Given the description of an element on the screen output the (x, y) to click on. 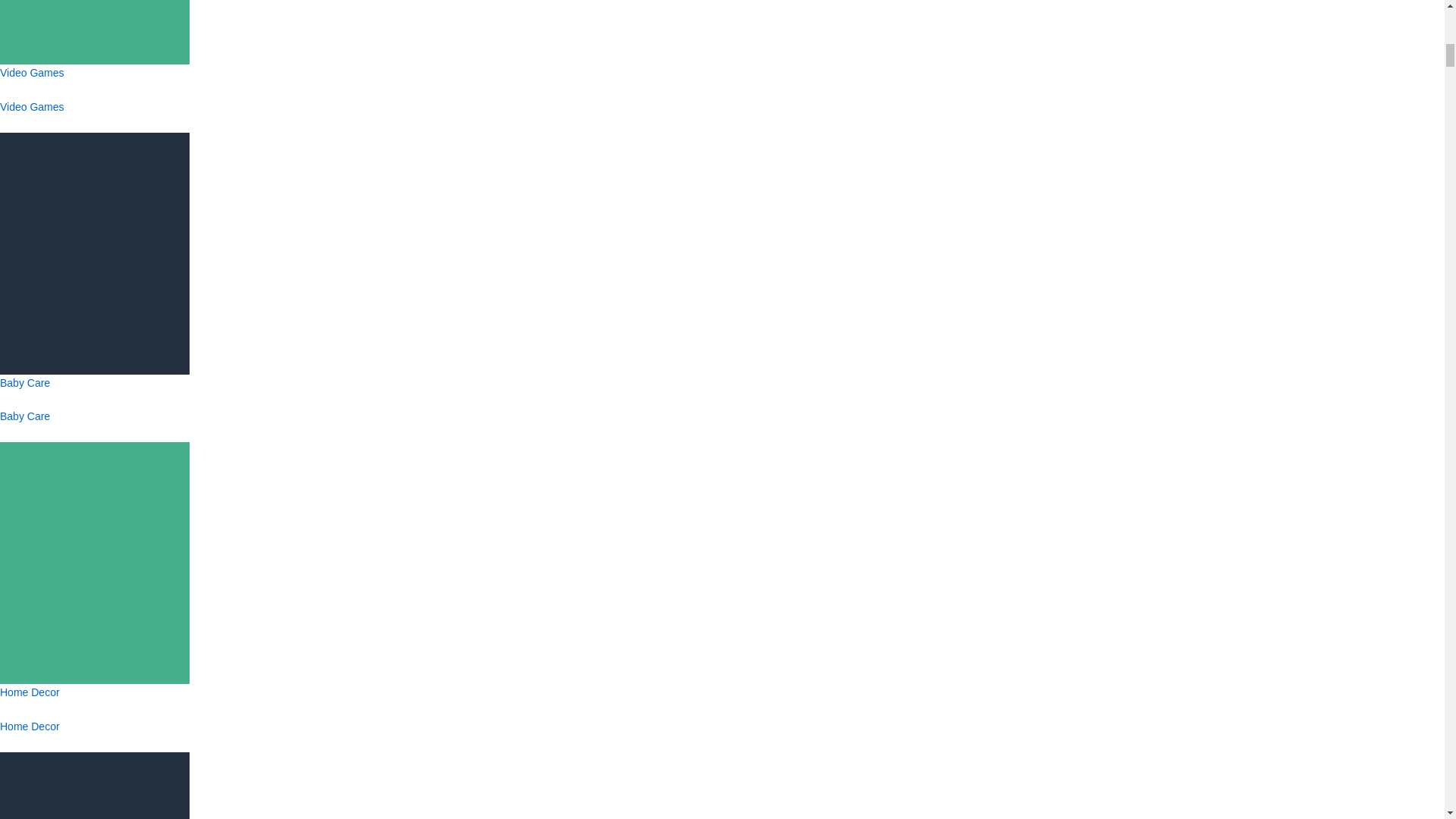
Video Games (94, 103)
